Given the description of an element on the screen output the (x, y) to click on. 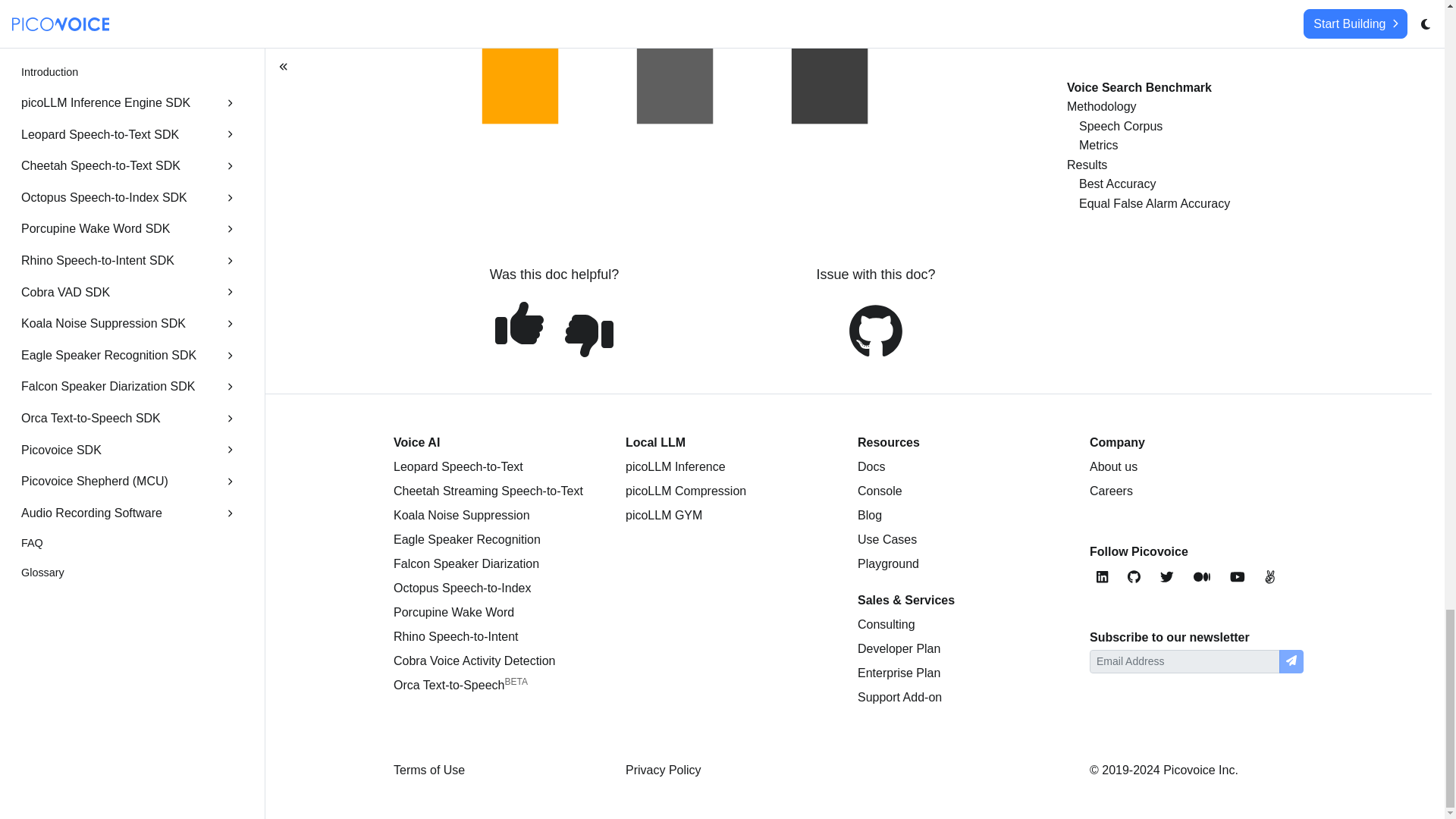
Not helpful (588, 336)
Helpful (519, 322)
Report a GitHub Issue (875, 330)
